Given the description of an element on the screen output the (x, y) to click on. 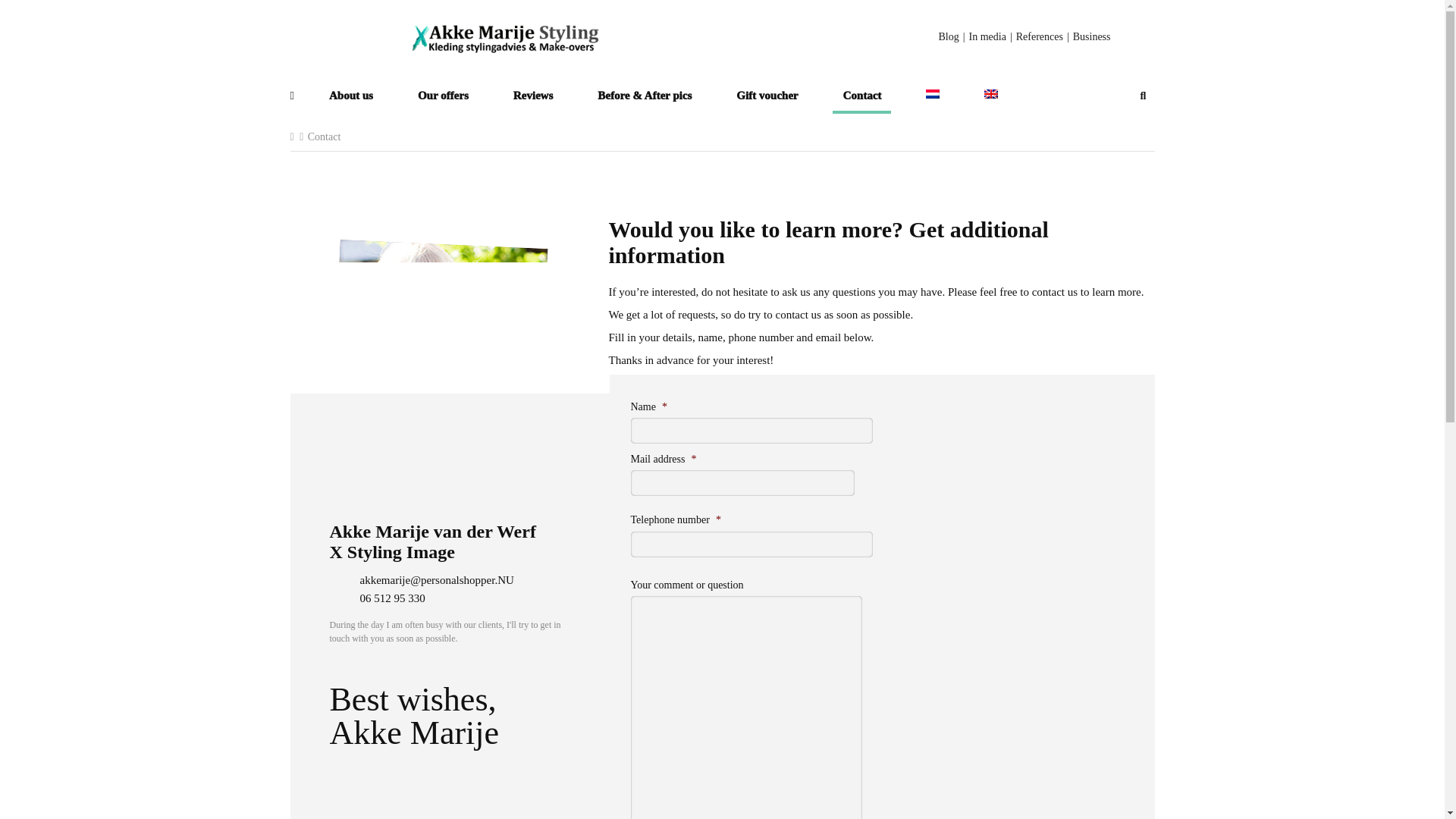
Reviews (533, 96)
Gift voucher (767, 96)
Search (1142, 96)
Blog (949, 37)
In media (982, 37)
About us (350, 96)
Business (1086, 37)
06 512 95 330 (377, 598)
Our offers (443, 96)
Contact (861, 96)
Contact (324, 136)
References (1034, 37)
